Given the description of an element on the screen output the (x, y) to click on. 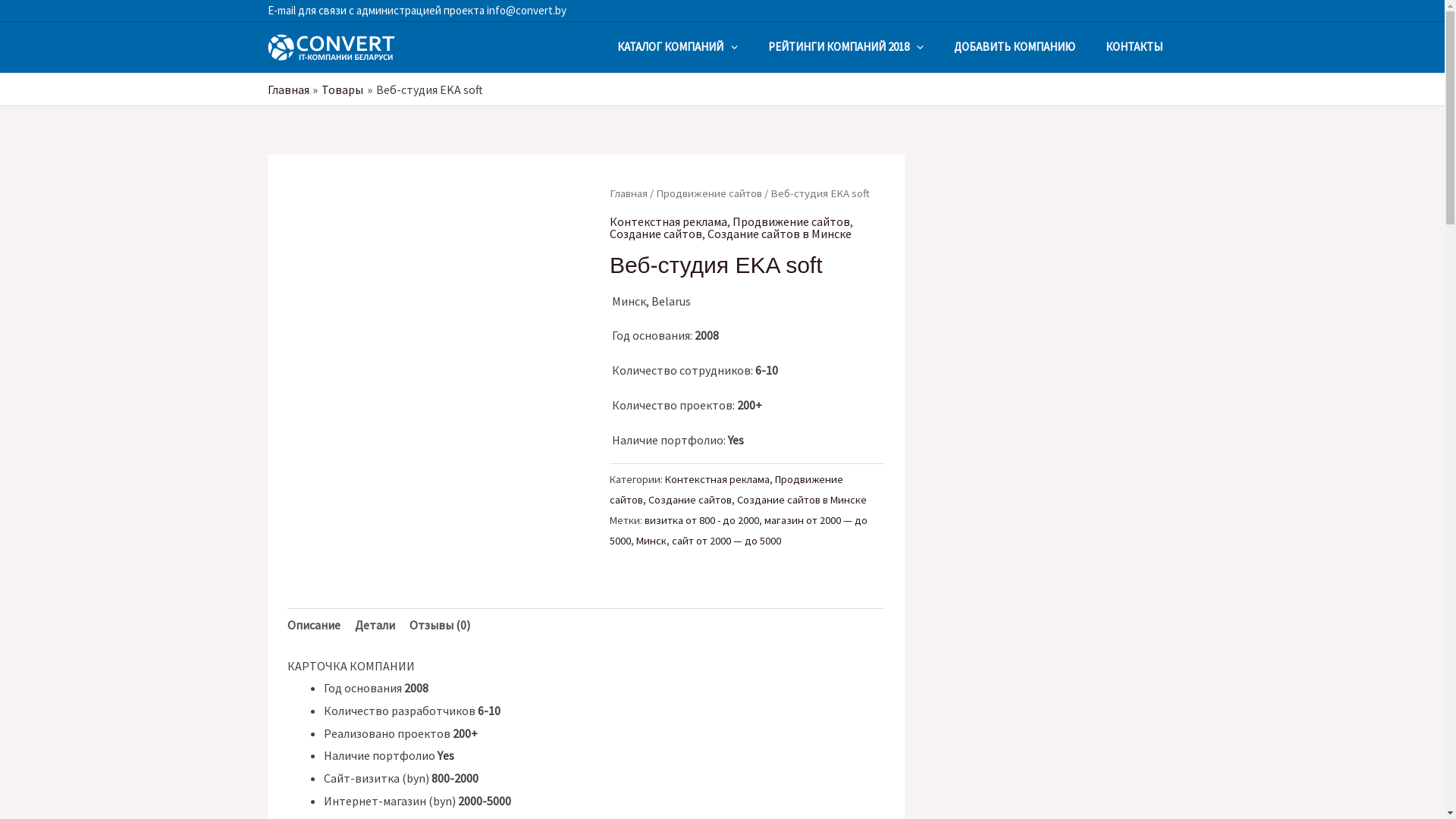
 info@convert.by Element type: text (524, 10)
